Given the description of an element on the screen output the (x, y) to click on. 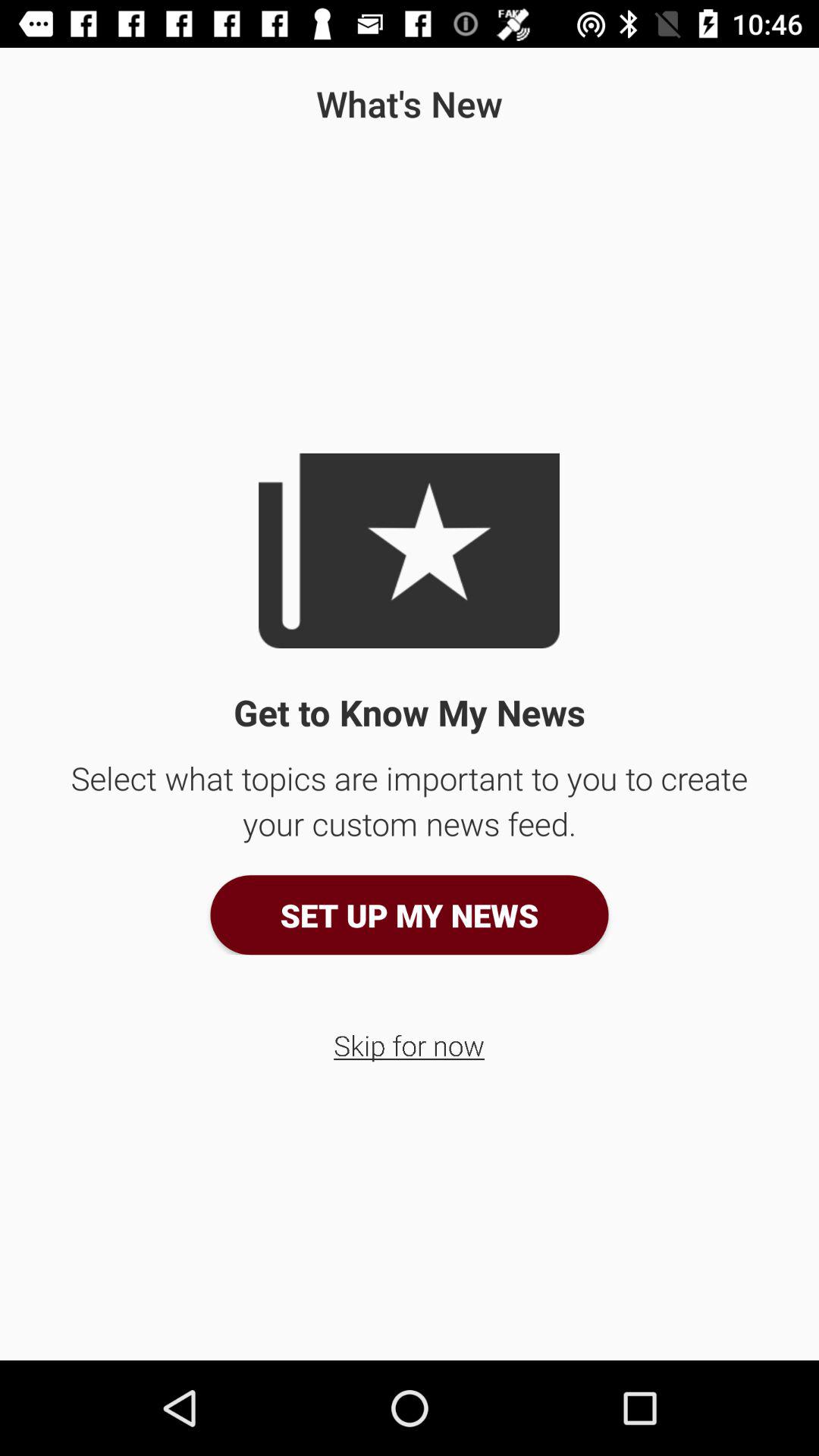
launch the icon below select what topics app (409, 914)
